Given the description of an element on the screen output the (x, y) to click on. 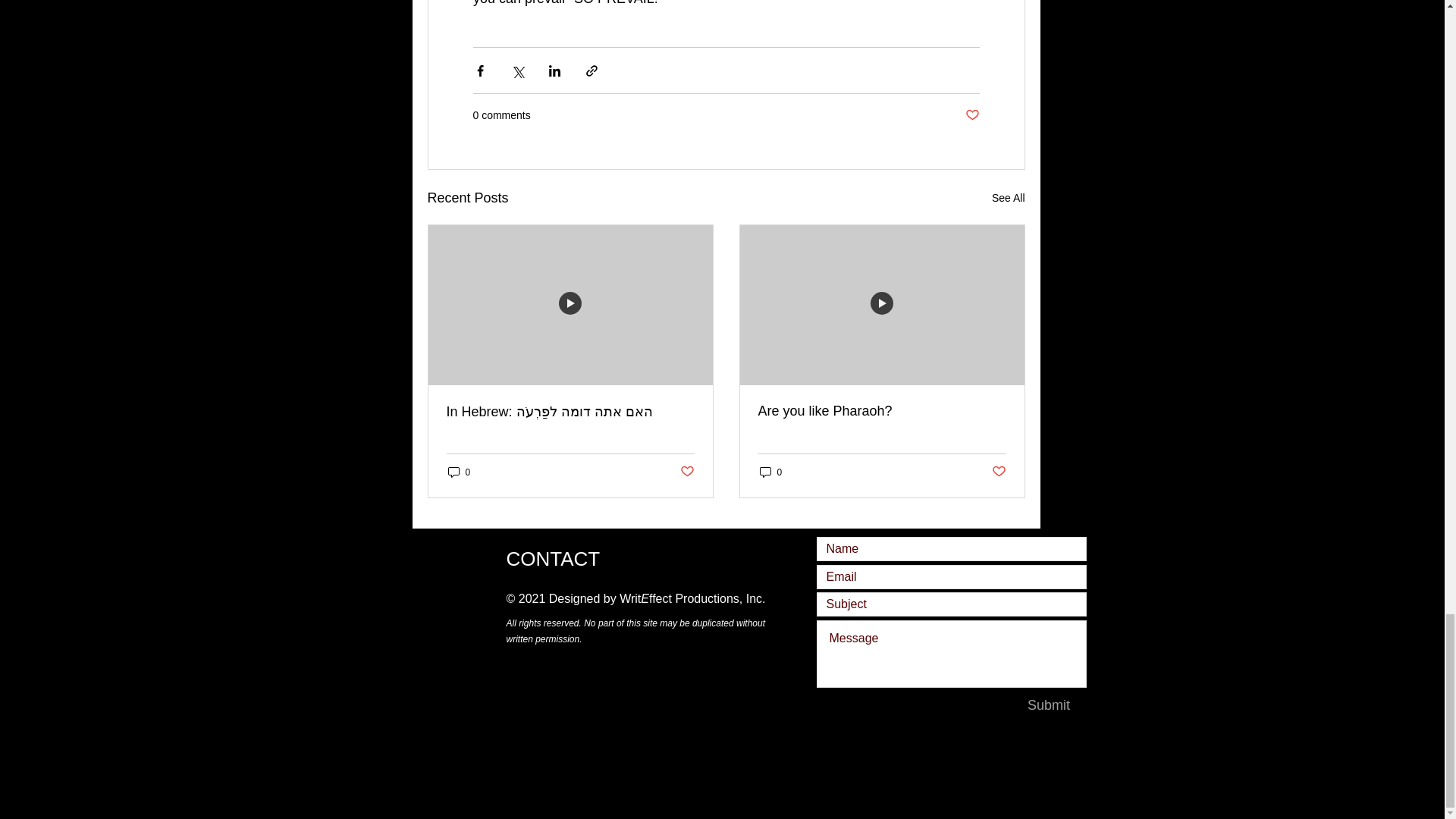
0 (771, 472)
0 (458, 472)
Post not marked as liked (970, 115)
Submit (1048, 705)
Are you like Pharaoh? (882, 411)
Post not marked as liked (998, 471)
Post not marked as liked (686, 471)
See All (1008, 198)
